Given the description of an element on the screen output the (x, y) to click on. 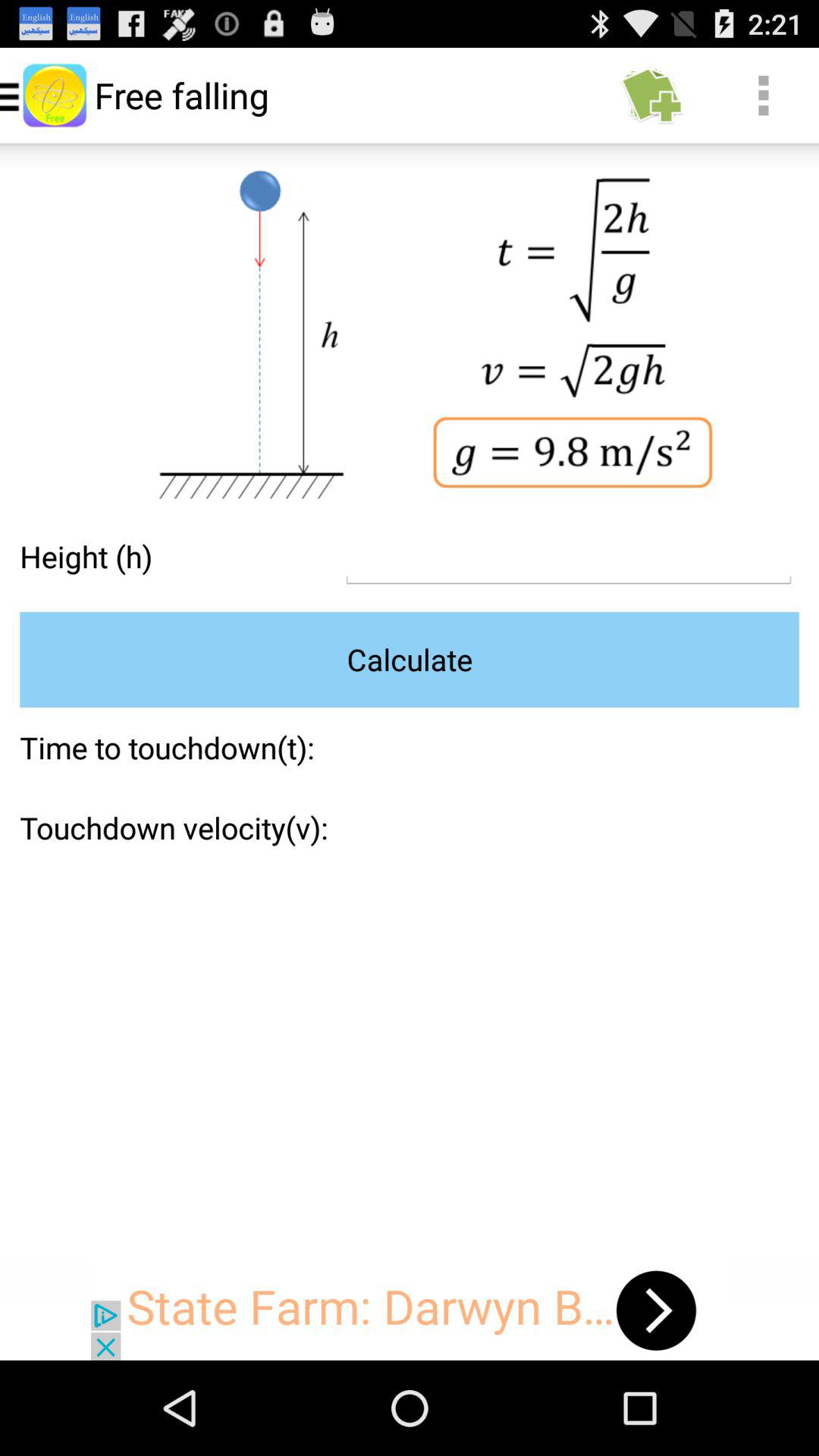
select the fill in blanks (568, 556)
